Given the description of an element on the screen output the (x, y) to click on. 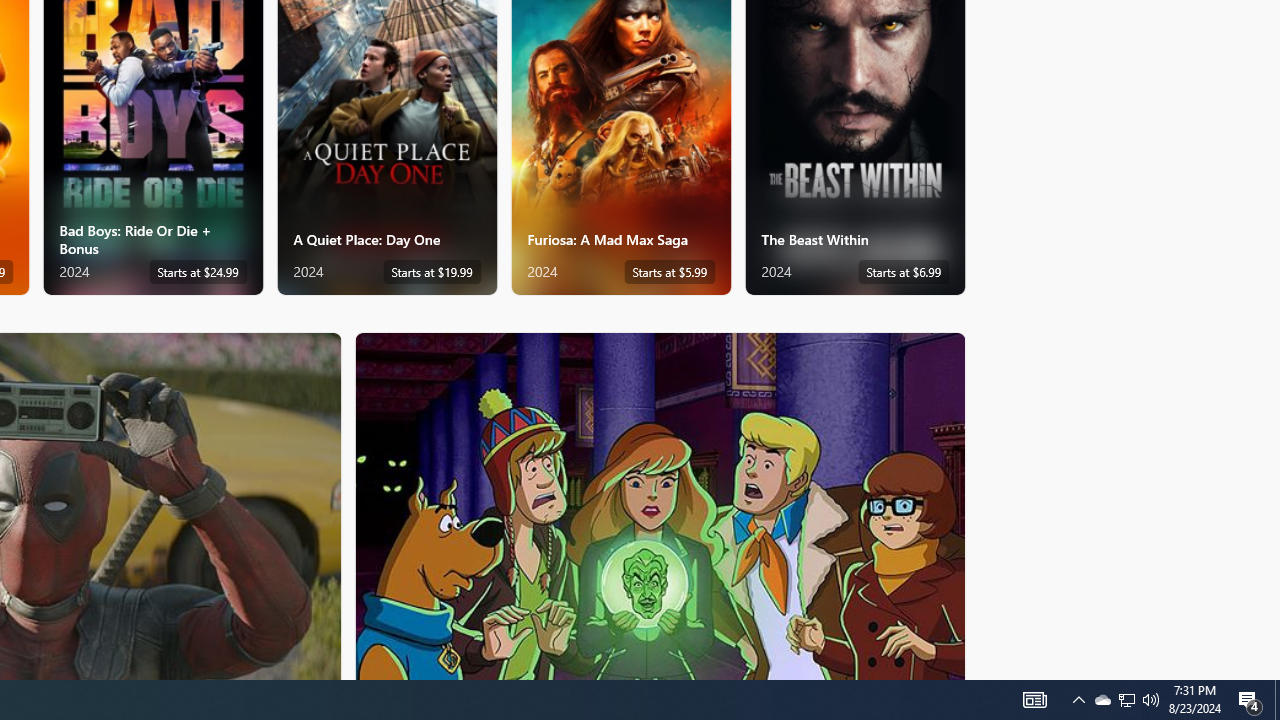
AutomationID: PosterImage (658, 505)
Family (660, 505)
